Given the description of an element on the screen output the (x, y) to click on. 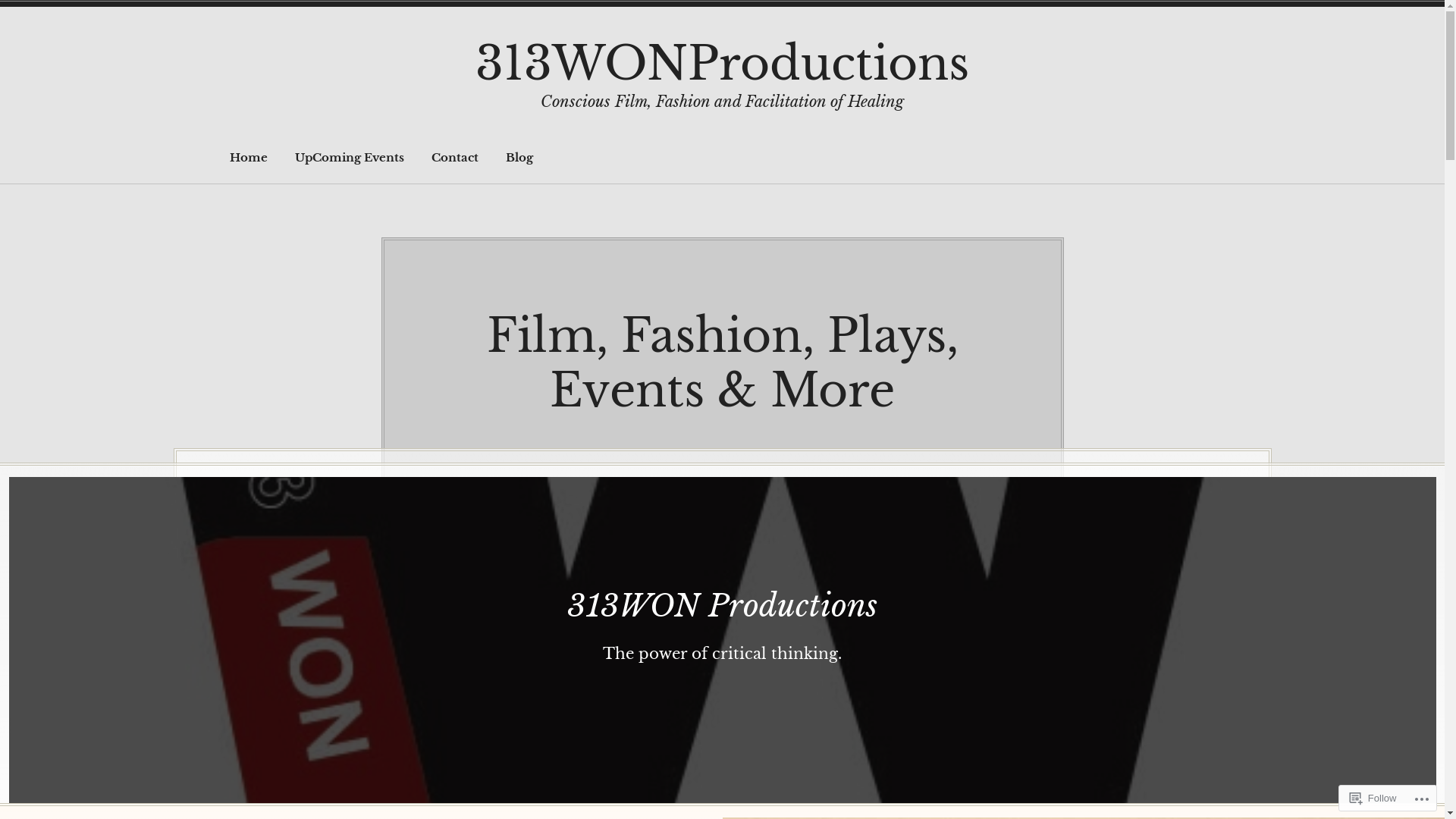
Home Element type: text (248, 157)
313WONProductions Element type: text (722, 63)
Follow Element type: text (1372, 797)
Blog Element type: text (519, 157)
Contact Element type: text (454, 157)
UpComing Events Element type: text (349, 157)
